Given the description of an element on the screen output the (x, y) to click on. 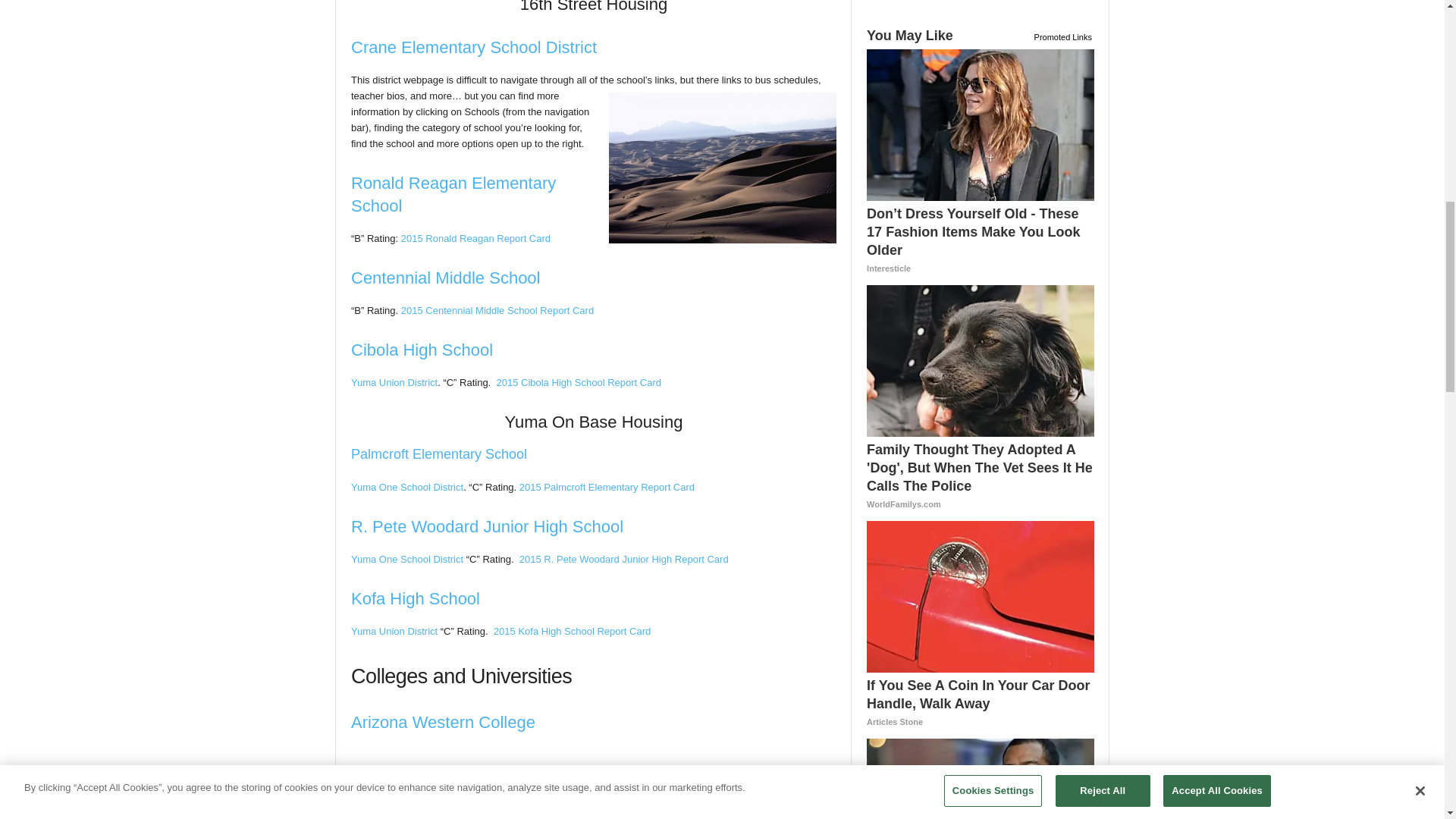
Yuma7 (721, 167)
Military Housing for Yuma Marine Corps Base Air Station (441, 791)
